Given the description of an element on the screen output the (x, y) to click on. 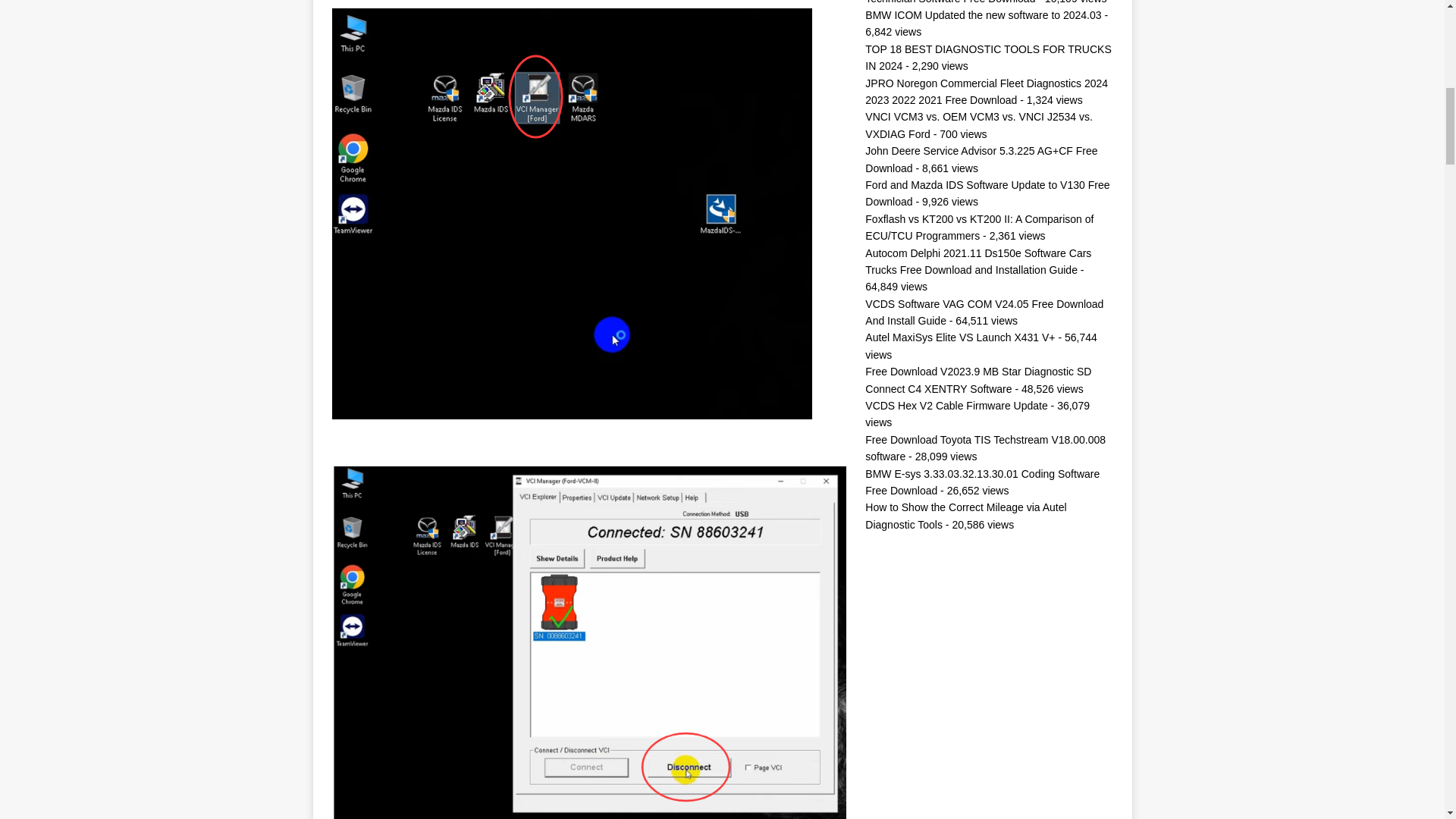
VNCI VCM3 vs. OEM VCM3 vs. VNCI J2534 vs. VXDIAG Ford (978, 124)
TOP 18 BEST DIAGNOSTIC TOOLS FOR TRUCKS IN 2024 (987, 57)
BMW ICOM Updated the new software to 2024.03 (982, 15)
